Given the description of an element on the screen output the (x, y) to click on. 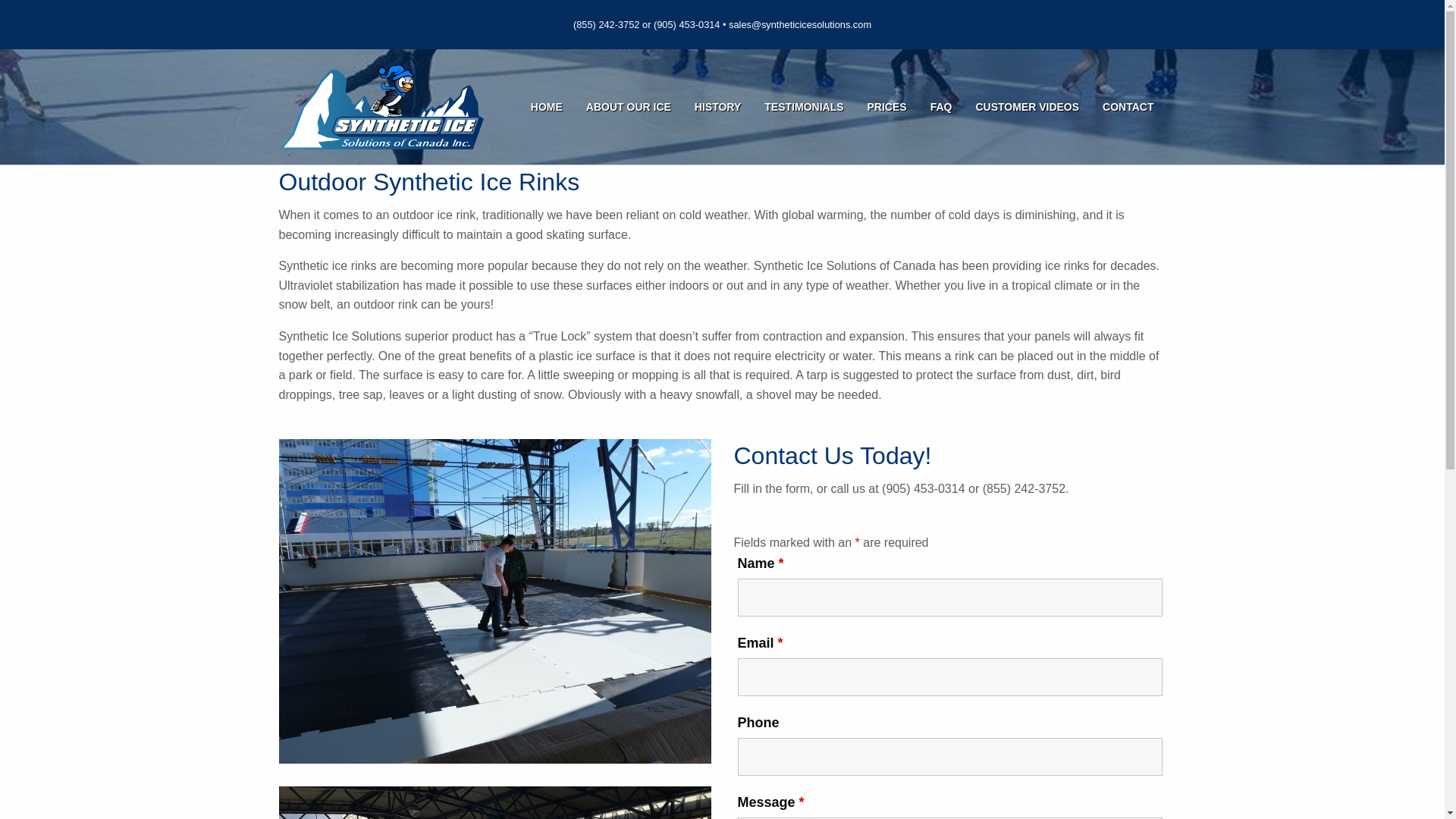
Logo (381, 106)
TESTIMONIALS (803, 106)
Belrus Grand opening (495, 802)
HISTORY (717, 106)
CONTACT (1127, 106)
ABOUT OUR ICE (628, 106)
PRICES (887, 106)
CUSTOMER VIDEOS (1026, 106)
FAQ (940, 106)
HOME (546, 106)
